Given the description of an element on the screen output the (x, y) to click on. 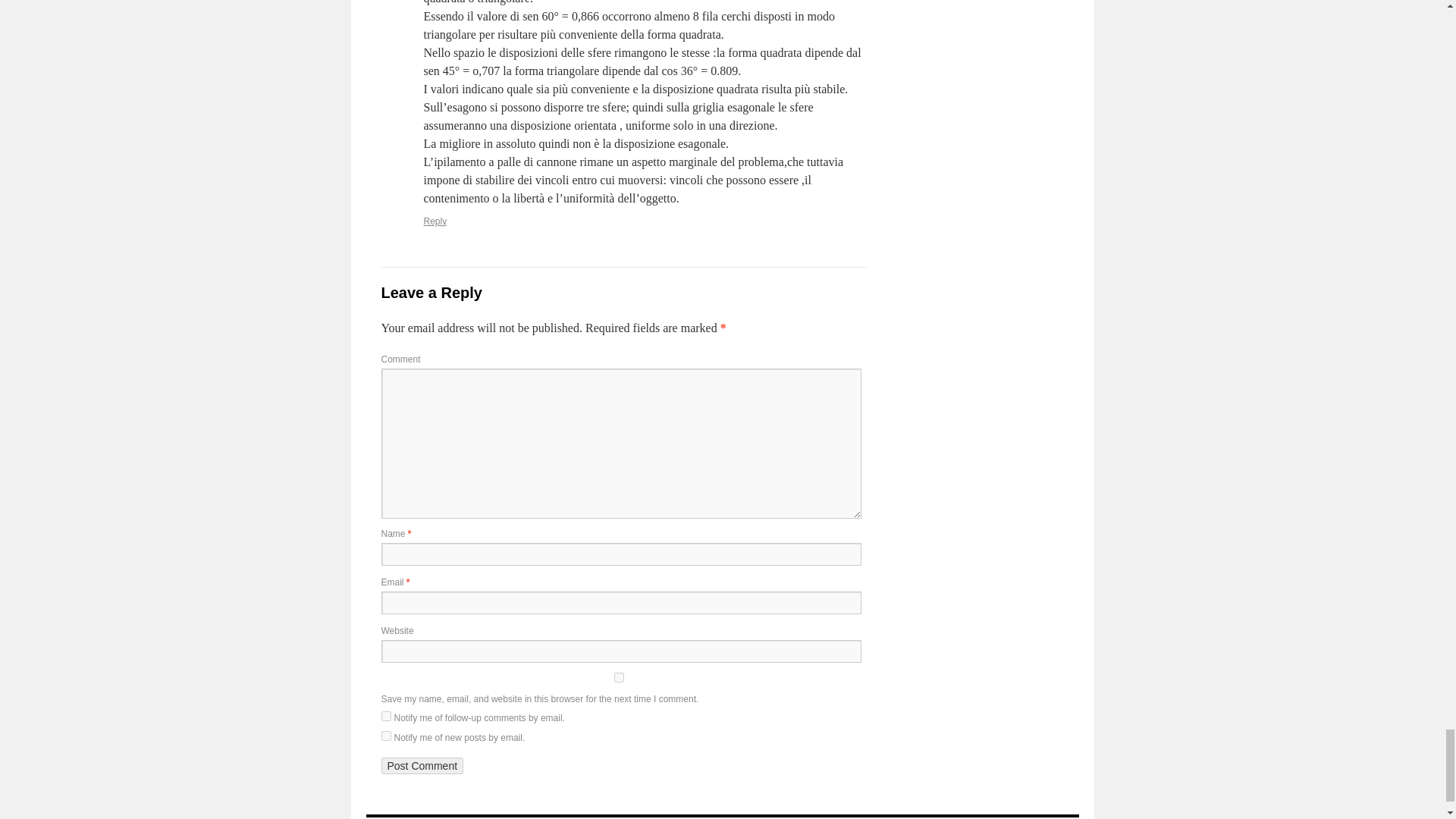
yes (618, 677)
subscribe (385, 736)
Post Comment (421, 765)
Post Comment (421, 765)
subscribe (385, 716)
Reply (434, 221)
